Given the description of an element on the screen output the (x, y) to click on. 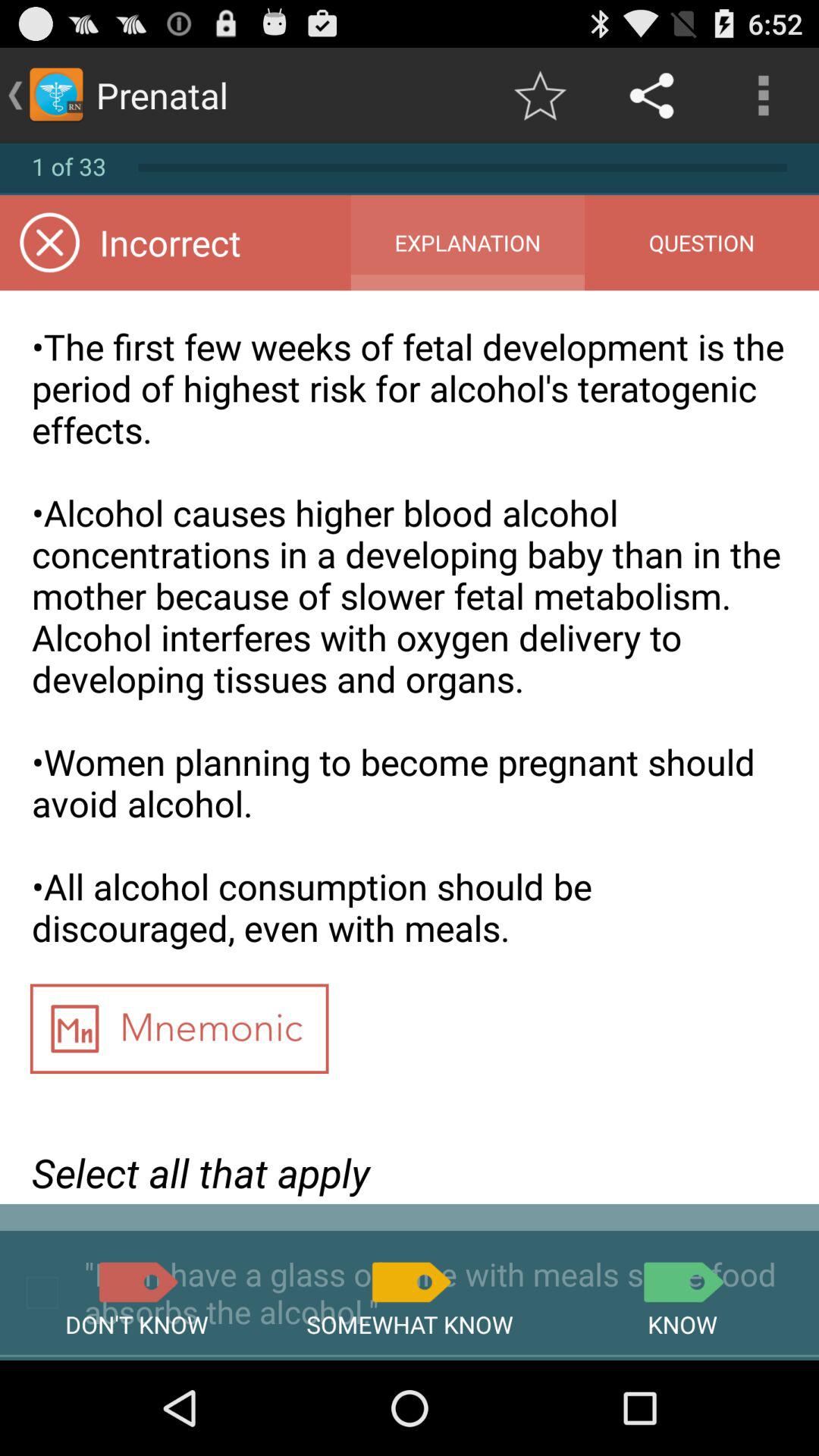
list as do n't know (136, 1281)
